Given the description of an element on the screen output the (x, y) to click on. 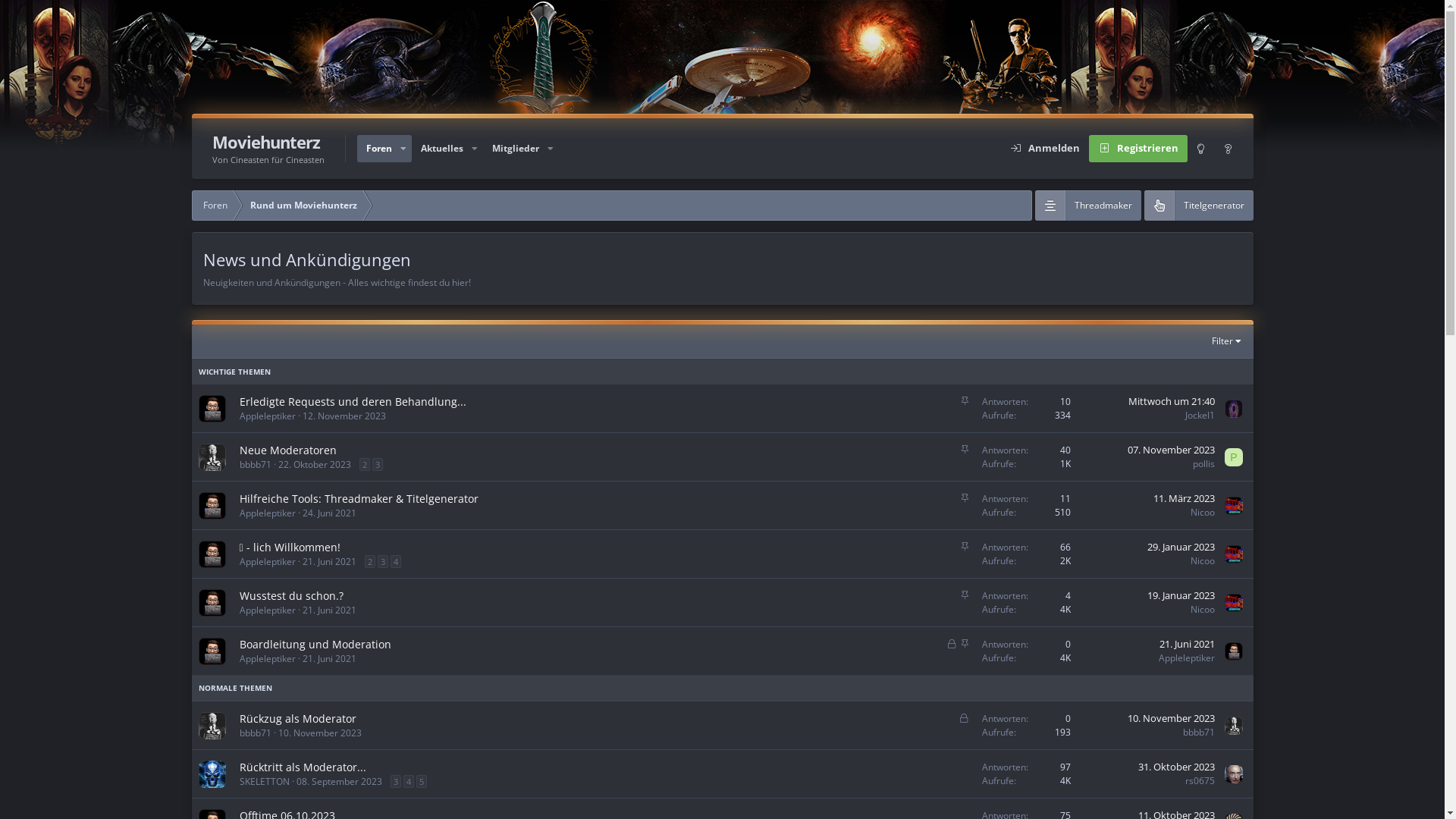
Boardleitung und Moderation Element type: text (315, 644)
Nicoo Element type: text (1202, 608)
10. November 2023 Element type: text (1170, 717)
Foren Element type: text (378, 148)
29. Januar 2023 Element type: text (1180, 546)
19. Januar 2023 Element type: text (1180, 595)
rs0675 Element type: text (1199, 780)
21. Juni 2021 Element type: text (328, 561)
5 Element type: text (420, 781)
Titelgenerator Element type: text (1197, 205)
Nicoo Element type: text (1202, 560)
Appleleptiker Element type: text (267, 609)
Angeheftet Element type: hover (964, 448)
Angeheftet Element type: hover (964, 497)
22. Oktober 2023 Element type: text (313, 464)
2 Element type: text (369, 561)
bbbb71 Element type: text (1198, 731)
3 Element type: text (394, 781)
Wusstest du schon.? Element type: text (291, 595)
21. Juni 2021 Element type: text (1186, 643)
Mitglieder Element type: text (515, 148)
Angeheftet Element type: hover (964, 400)
Rund um Moviehunterz Element type: text (302, 205)
Jockel1 Element type: text (1199, 414)
Mittwoch um 21:40 Element type: text (1171, 400)
Filter Element type: text (1227, 340)
3 Element type: text (376, 464)
Threadmaker Element type: text (1087, 205)
Neue Moderatoren Element type: text (287, 449)
P Element type: text (1233, 456)
Nicoo Element type: text (1202, 511)
bbbb71 Element type: text (255, 732)
10. November 2023 Element type: text (318, 732)
Registrieren Element type: text (1137, 148)
Appleleptiker Element type: text (267, 512)
21. Juni 2021 Element type: text (328, 658)
4 Element type: text (408, 781)
Gesperrt Element type: hover (951, 642)
31. Oktober 2023 Element type: text (1175, 766)
Erledigte Requests und deren Behandlung... Element type: text (352, 401)
bbbb71 Element type: text (255, 464)
Angeheftet Element type: hover (964, 642)
Angeheftet Element type: hover (964, 594)
Appleleptiker Element type: text (267, 415)
Angeheftet Element type: hover (964, 545)
3 Element type: text (382, 561)
Foren Element type: text (214, 205)
24. Juni 2021 Element type: text (328, 512)
Aktuelles Element type: text (441, 148)
12. November 2023 Element type: text (343, 415)
pollis Element type: text (1203, 463)
SKELETTON Element type: text (264, 781)
Appleleptiker Element type: text (267, 658)
4 Element type: text (394, 561)
Anmelden Element type: text (1044, 148)
Hilfreiche Tools: Threadmaker & Titelgenerator Element type: text (358, 498)
07. November 2023 Element type: text (1170, 449)
2 Element type: text (364, 464)
Gesperrt Element type: hover (963, 717)
21. Juni 2021 Element type: text (328, 609)
Appleleptiker Element type: text (267, 561)
08. September 2023 Element type: text (338, 781)
Appleleptiker Element type: text (1186, 657)
